Given the description of an element on the screen output the (x, y) to click on. 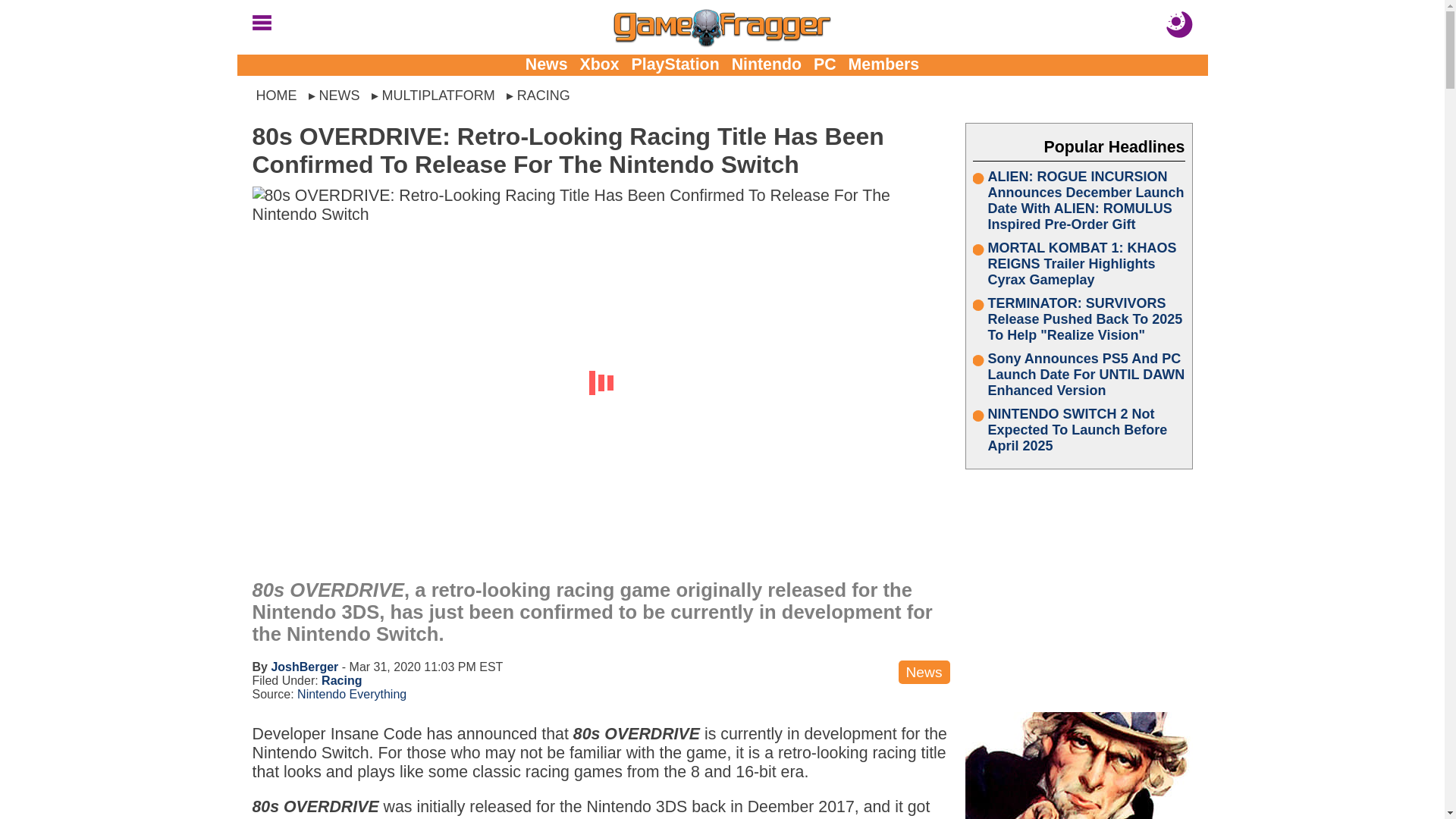
PlayStation (675, 64)
Xbox (598, 64)
PC (824, 64)
Members (884, 64)
Nintendo (767, 64)
News (546, 64)
